Given the description of an element on the screen output the (x, y) to click on. 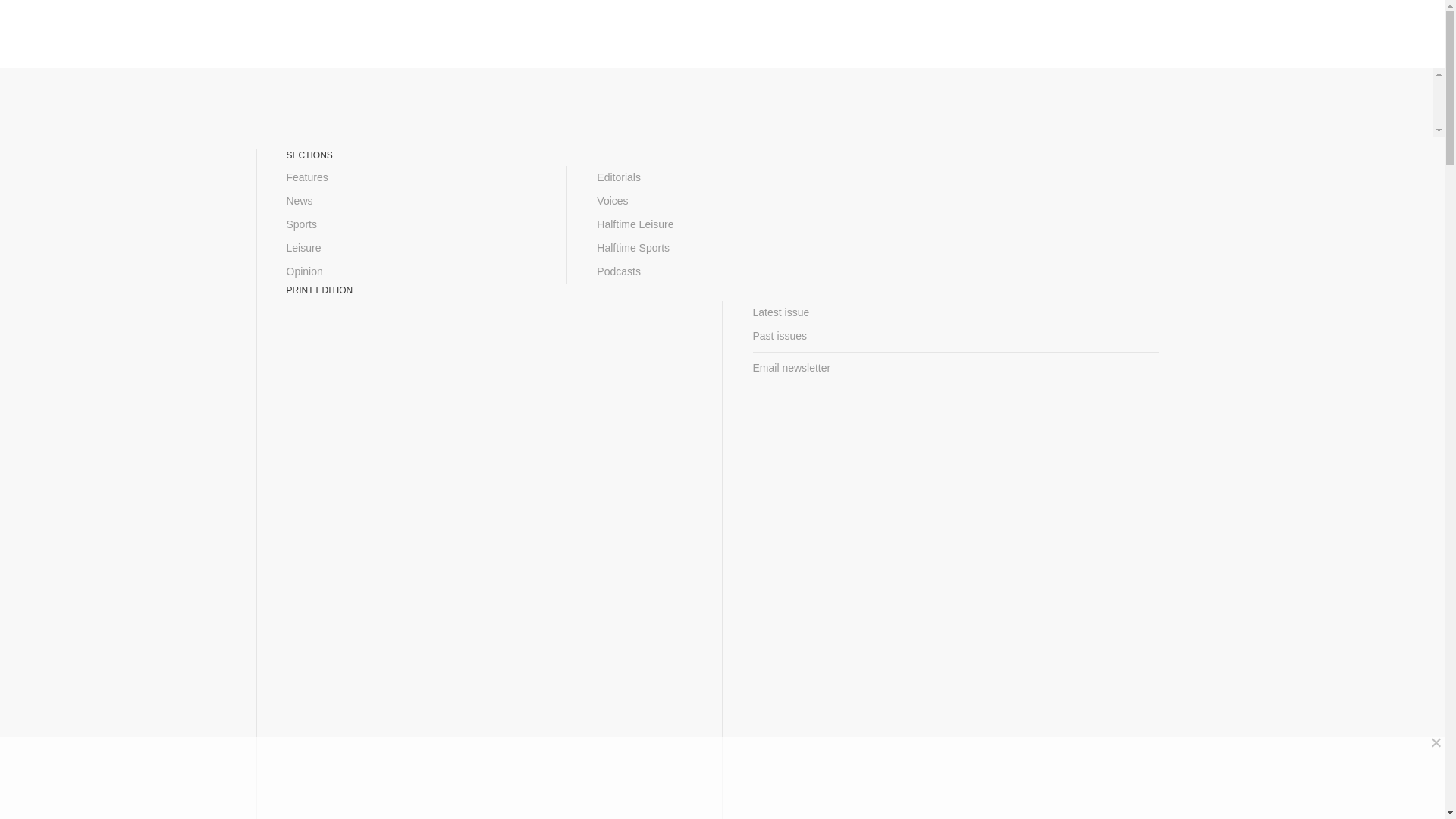
Posts by Margaux Fontaine (485, 310)
Latest issue (954, 312)
Past issues (954, 336)
Sports (411, 224)
News (411, 200)
Opinion (411, 271)
Features (411, 177)
Leisure (411, 248)
Halftime Sports (721, 248)
Email newsletter (954, 368)
